Given the description of an element on the screen output the (x, y) to click on. 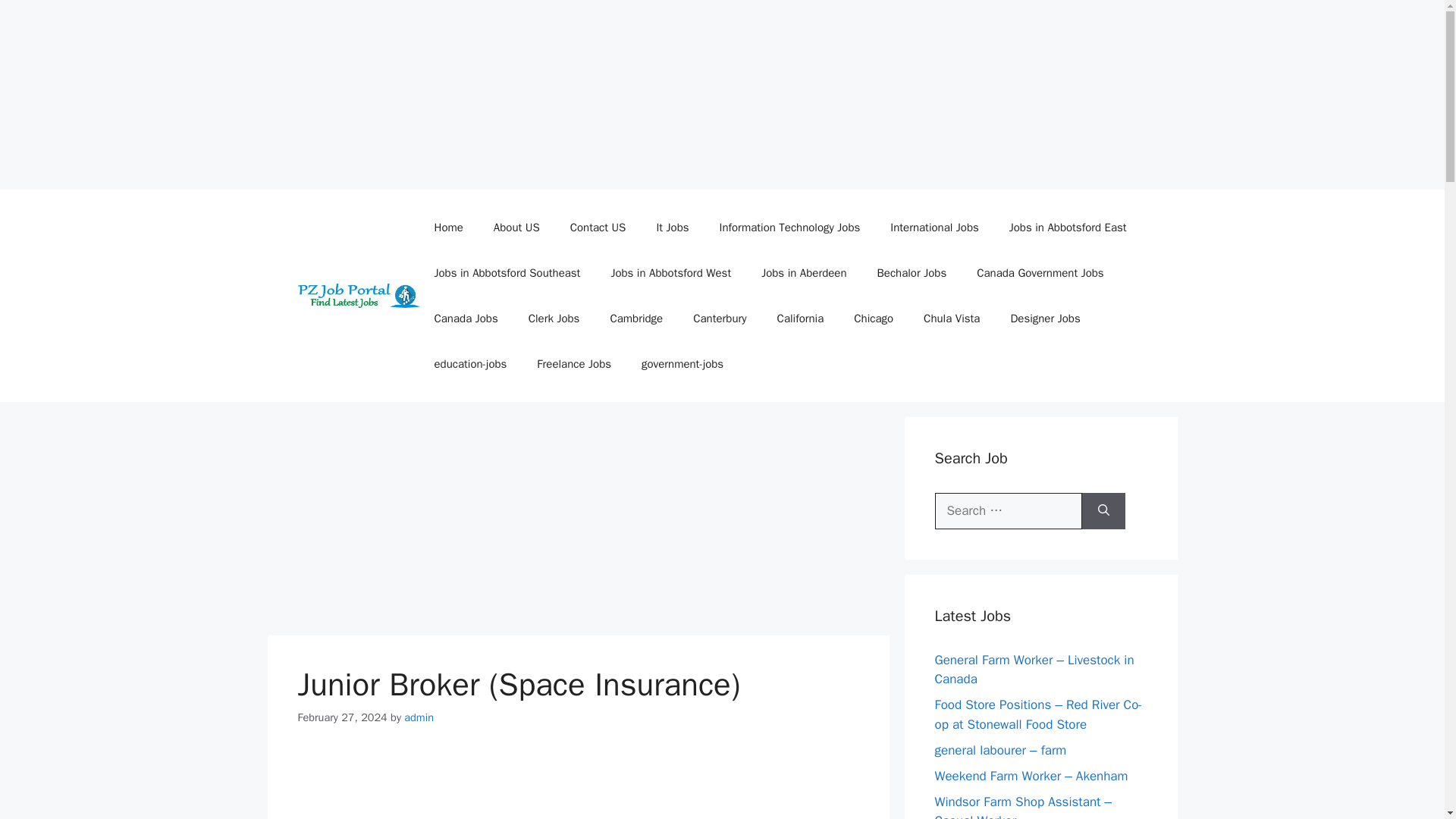
government-jobs (682, 363)
Search for: (1007, 511)
International Jobs (934, 227)
It Jobs (671, 227)
Information Technology Jobs (790, 227)
Home (448, 227)
Chicago (873, 318)
Jobs in Abbotsford Southeast (507, 272)
About US (516, 227)
Clerk Jobs (554, 318)
Canada Jobs (465, 318)
California (800, 318)
admin (418, 716)
Jobs in Abbotsford West (670, 272)
Jobs in Abbotsford East (1067, 227)
